Given the description of an element on the screen output the (x, y) to click on. 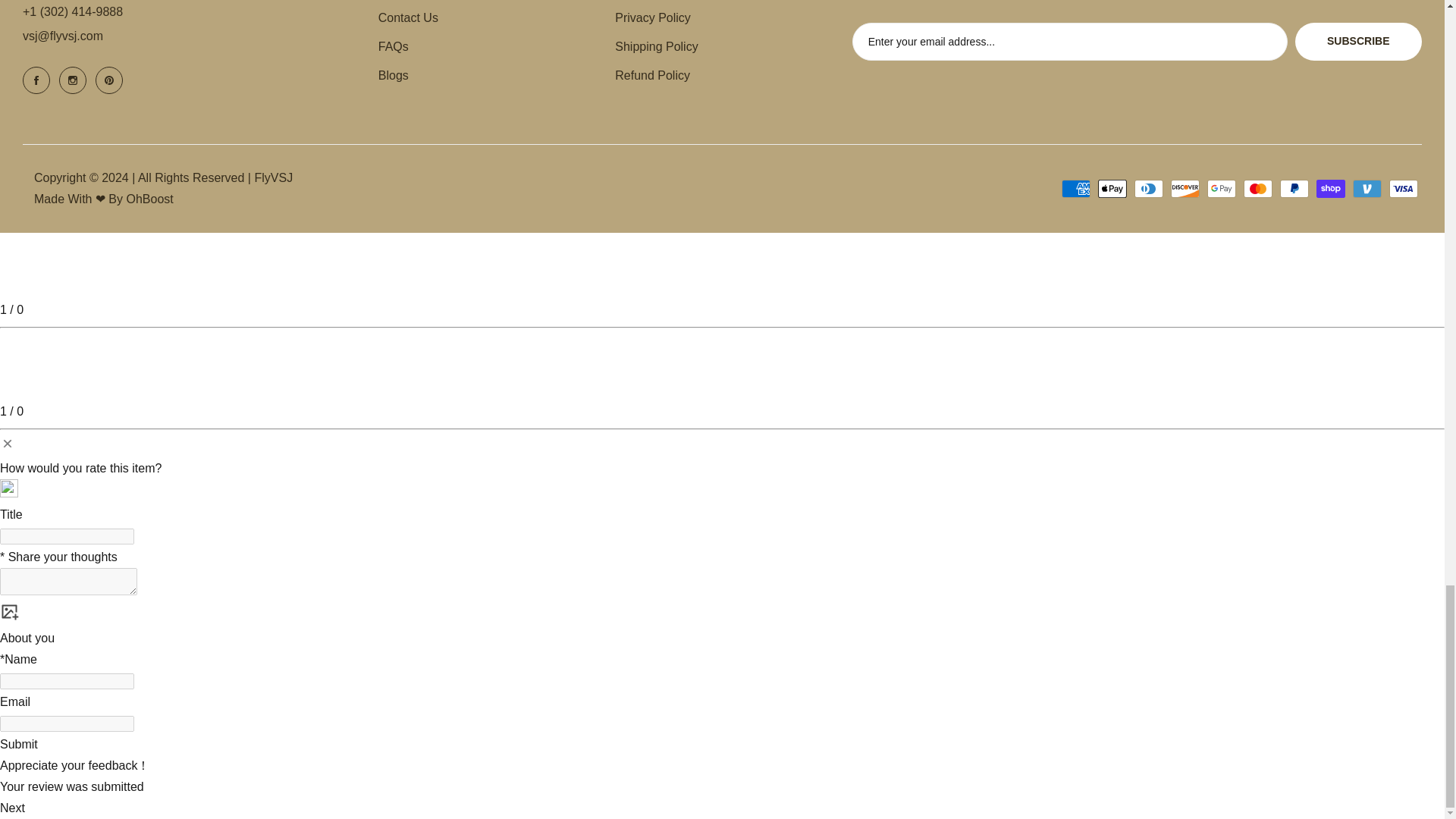
Apple Pay (1111, 188)
Diners Club (1148, 188)
American Express (1075, 188)
